Given the description of an element on the screen output the (x, y) to click on. 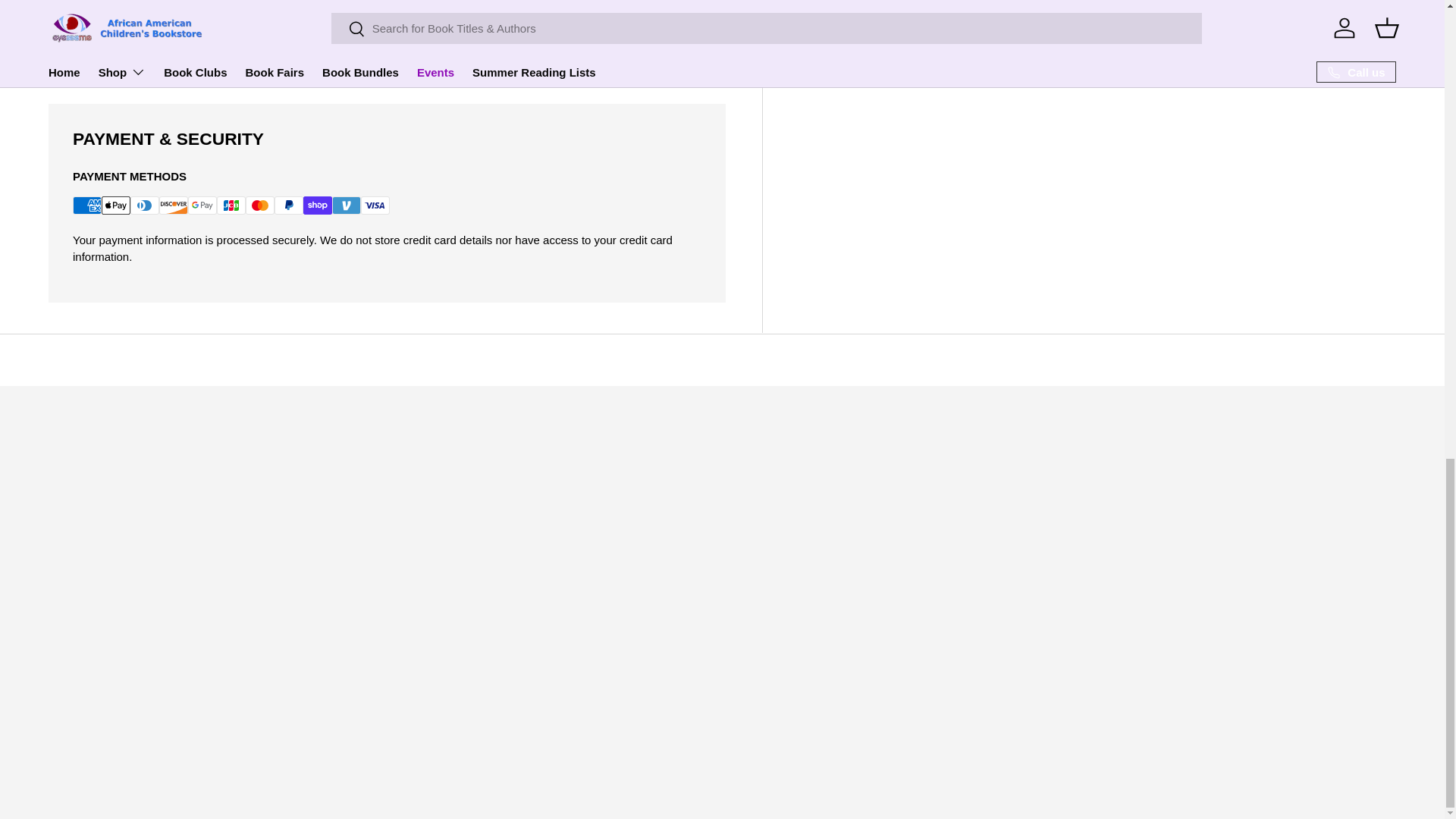
JCB (231, 205)
Google Pay (201, 205)
Mastercard (260, 205)
Diners Club (144, 205)
American Express (86, 205)
Discover (172, 205)
Apple Pay (116, 205)
